Given the description of an element on the screen output the (x, y) to click on. 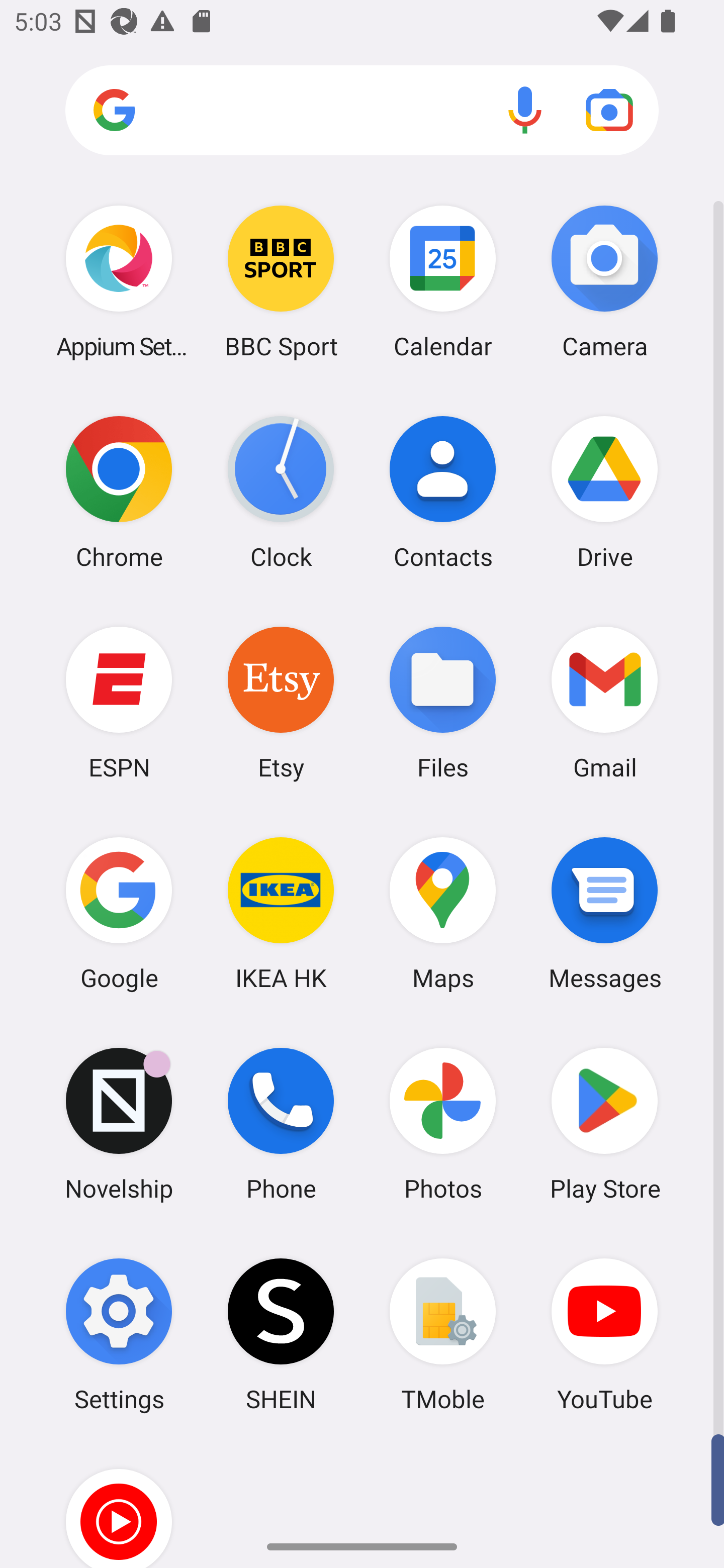
Search apps, web and more (361, 110)
Voice search (524, 109)
Google Lens (608, 109)
Appium Settings (118, 281)
BBC Sport (280, 281)
Calendar (443, 281)
Camera (604, 281)
Chrome (118, 492)
Clock (280, 492)
Contacts (443, 492)
Drive (604, 492)
ESPN (118, 702)
Etsy (280, 702)
Files (443, 702)
Gmail (604, 702)
Google (118, 913)
IKEA HK (280, 913)
Maps (443, 913)
Messages (604, 913)
Novelship Novelship has 1 notification (118, 1124)
Phone (280, 1124)
Photos (443, 1124)
Play Store (604, 1124)
Settings (118, 1334)
SHEIN (280, 1334)
TMoble (443, 1334)
YouTube (604, 1334)
YT Music (118, 1503)
